Given the description of an element on the screen output the (x, y) to click on. 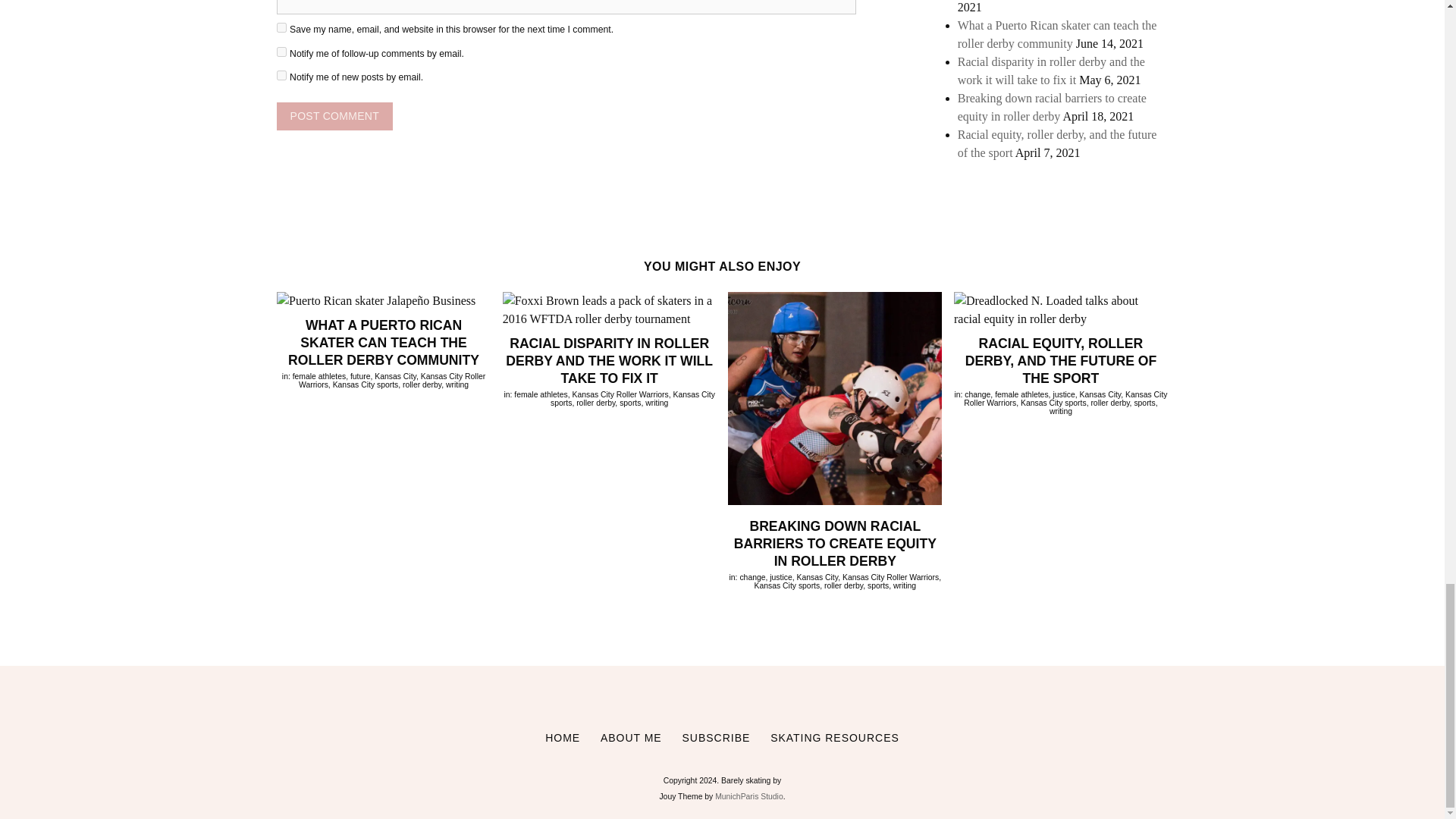
subscribe (281, 75)
subscribe (281, 51)
Post Comment (333, 116)
yes (281, 27)
